Given the description of an element on the screen output the (x, y) to click on. 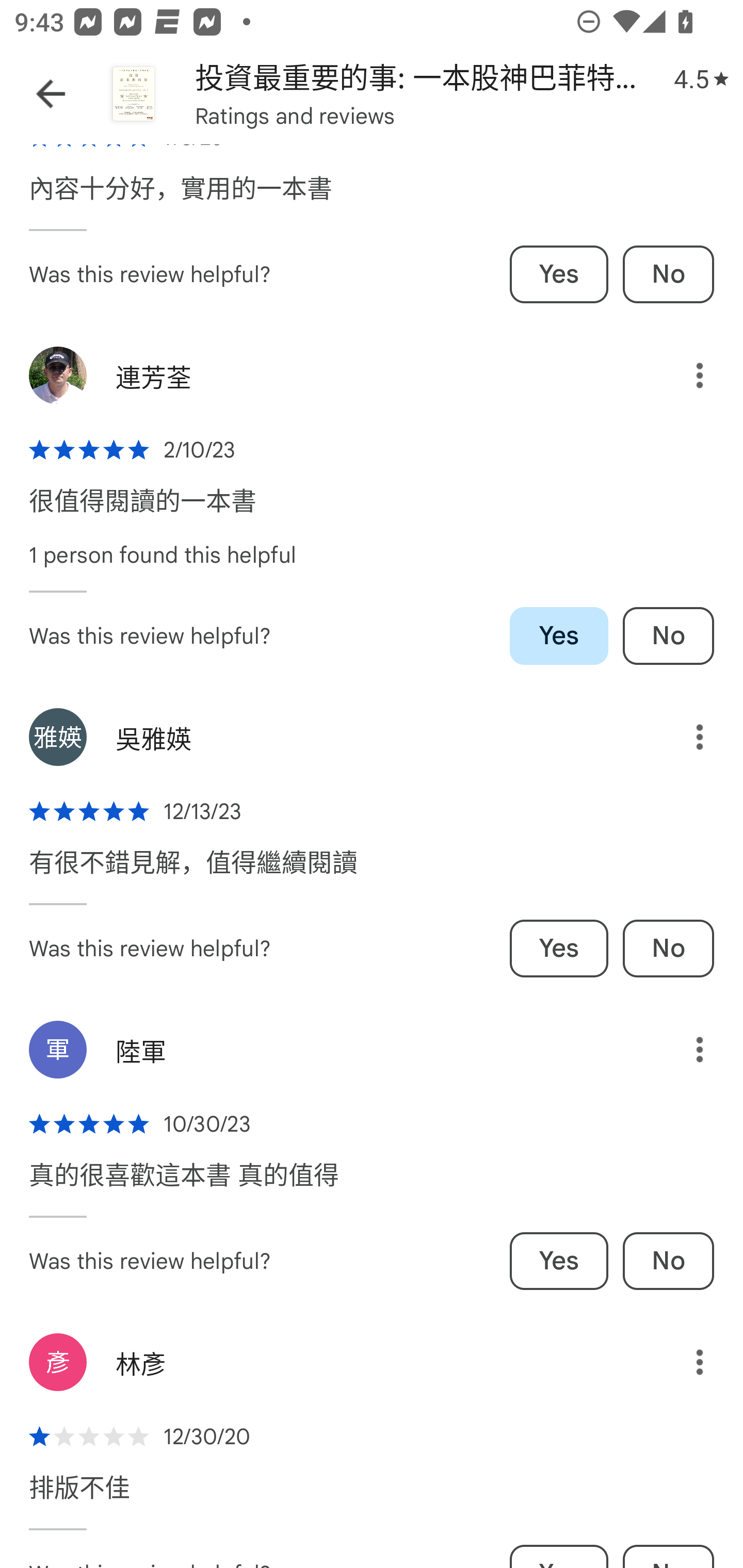
Navigate up (50, 93)
內容十分好，實用的一本書 (180, 197)
Yes (558, 274)
No (668, 274)
Options (685, 375)
很值得閱讀的一本書 (142, 510)
Yes (558, 635)
No (668, 635)
Options (685, 736)
有很不錯見解，值得繼續閱讀 (193, 872)
Yes (558, 948)
No (668, 948)
Options (685, 1049)
真的很喜歡這本書 真的值得 (183, 1185)
Yes (558, 1261)
No (668, 1261)
Options (685, 1361)
排版不佳 (79, 1497)
